Given the description of an element on the screen output the (x, y) to click on. 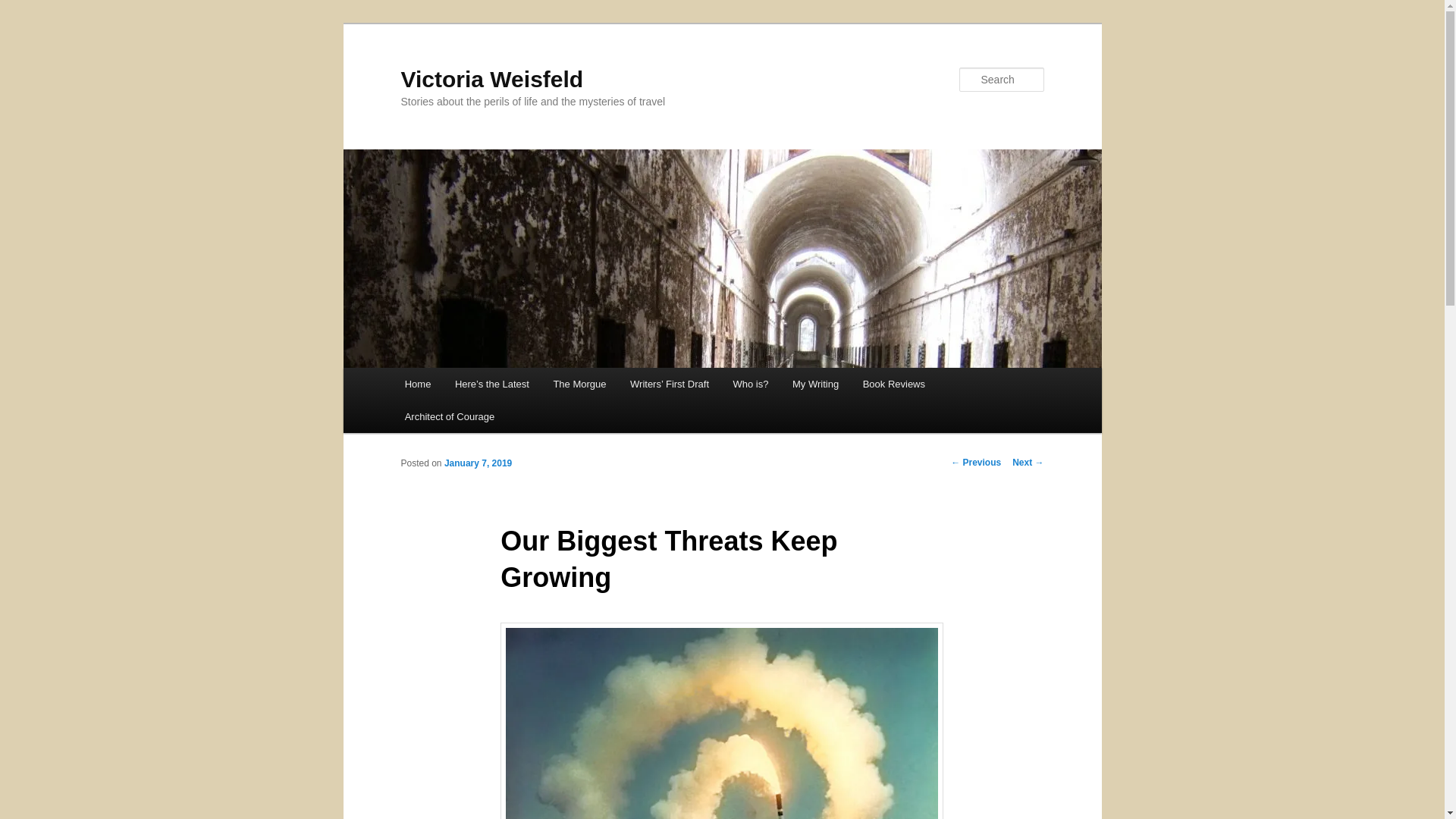
The Morgue (579, 383)
Architect of Courage (449, 416)
Victoria Weisfeld (491, 78)
Home (417, 383)
January 7, 2019 (478, 462)
Who is? (750, 383)
8:02 am (478, 462)
Book Reviews (893, 383)
Search (24, 8)
